Given the description of an element on the screen output the (x, y) to click on. 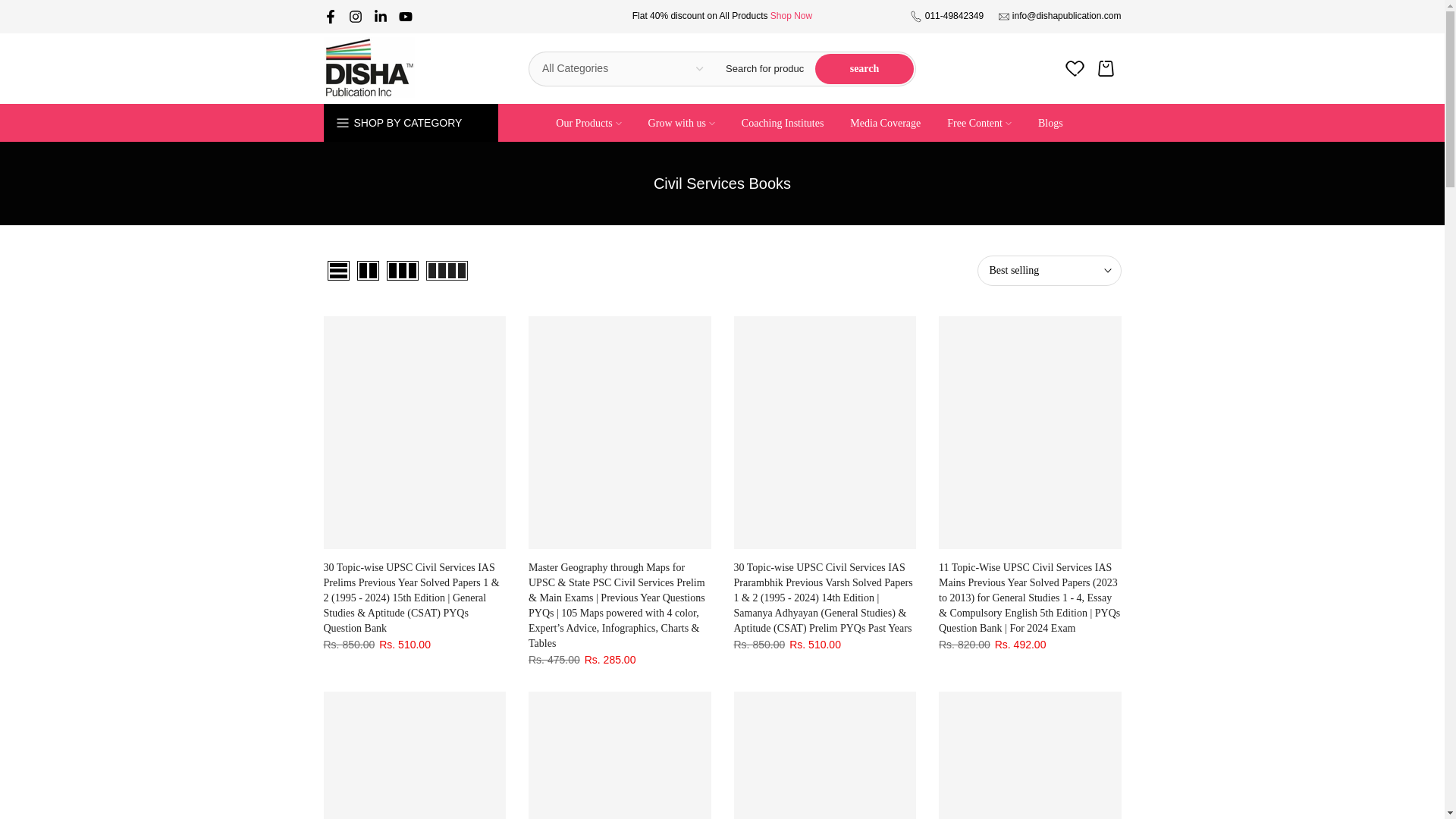
All collections (791, 15)
Blogs (1050, 123)
Free Content (979, 123)
Skip to content (10, 7)
Best selling (1048, 270)
Media Coverage (885, 123)
Coaching Institutes (782, 123)
Grow with us (681, 123)
search (864, 68)
011-49842349 (954, 15)
